Given the description of an element on the screen output the (x, y) to click on. 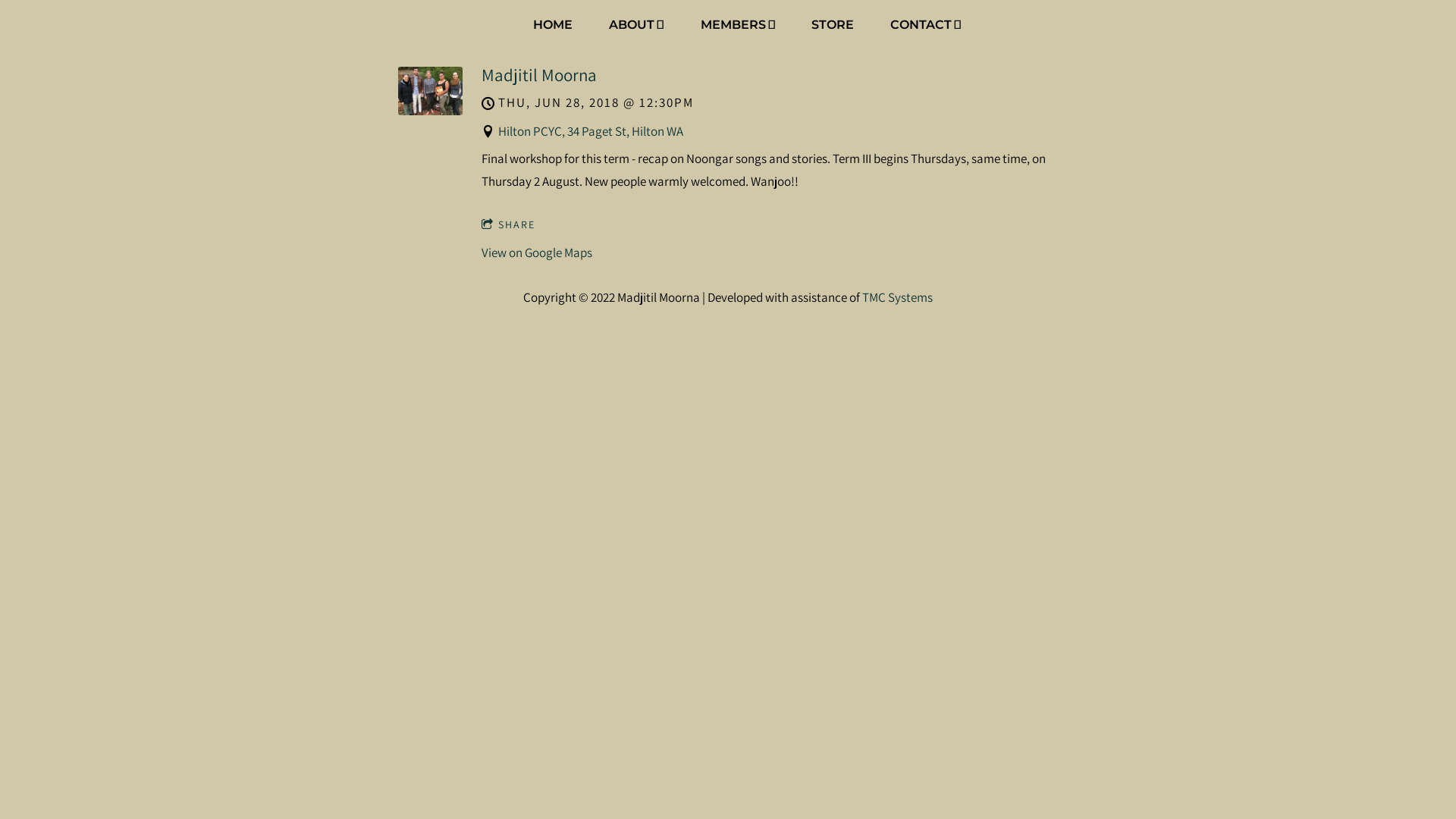
Madjitil Moorna Element type: text (538, 74)
STORE Element type: text (832, 25)
MEMBERS Element type: text (737, 25)
Madjitil Moorna Element type: hover (430, 110)
TMC Systems Element type: text (897, 296)
View on Google Maps Element type: text (536, 252)
HOME Element type: text (552, 25)
Hilton PCYC, 34 Paget St, Hilton WA Element type: text (590, 130)
CONTACT Element type: text (925, 25)
SHARE Element type: text (508, 224)
ABOUT Element type: text (635, 25)
